Given the description of an element on the screen output the (x, y) to click on. 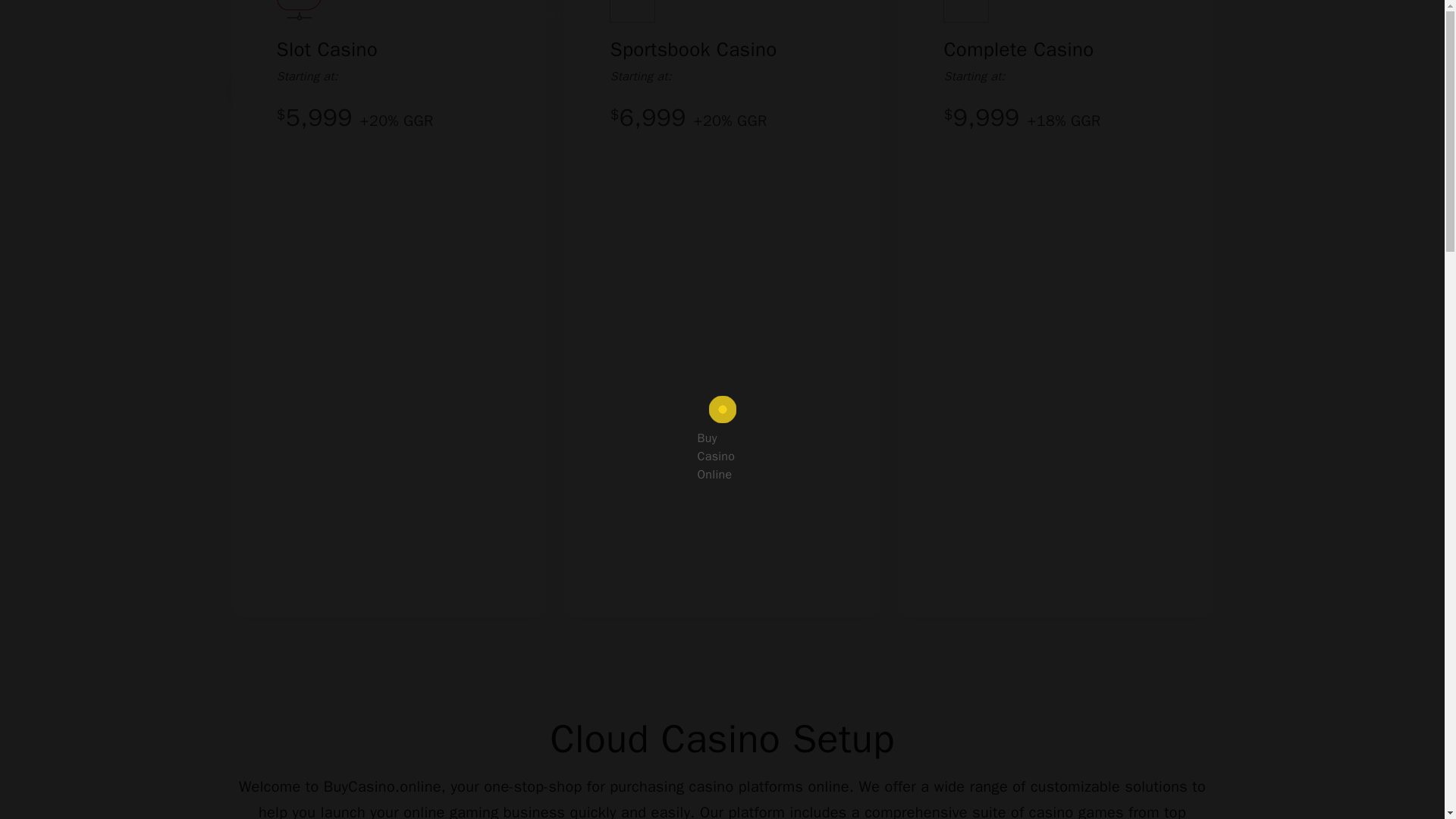
Casino Prices (290, 87)
Learn more (419, 87)
Learn More (419, 87)
Casino Prices (290, 87)
